Given the description of an element on the screen output the (x, y) to click on. 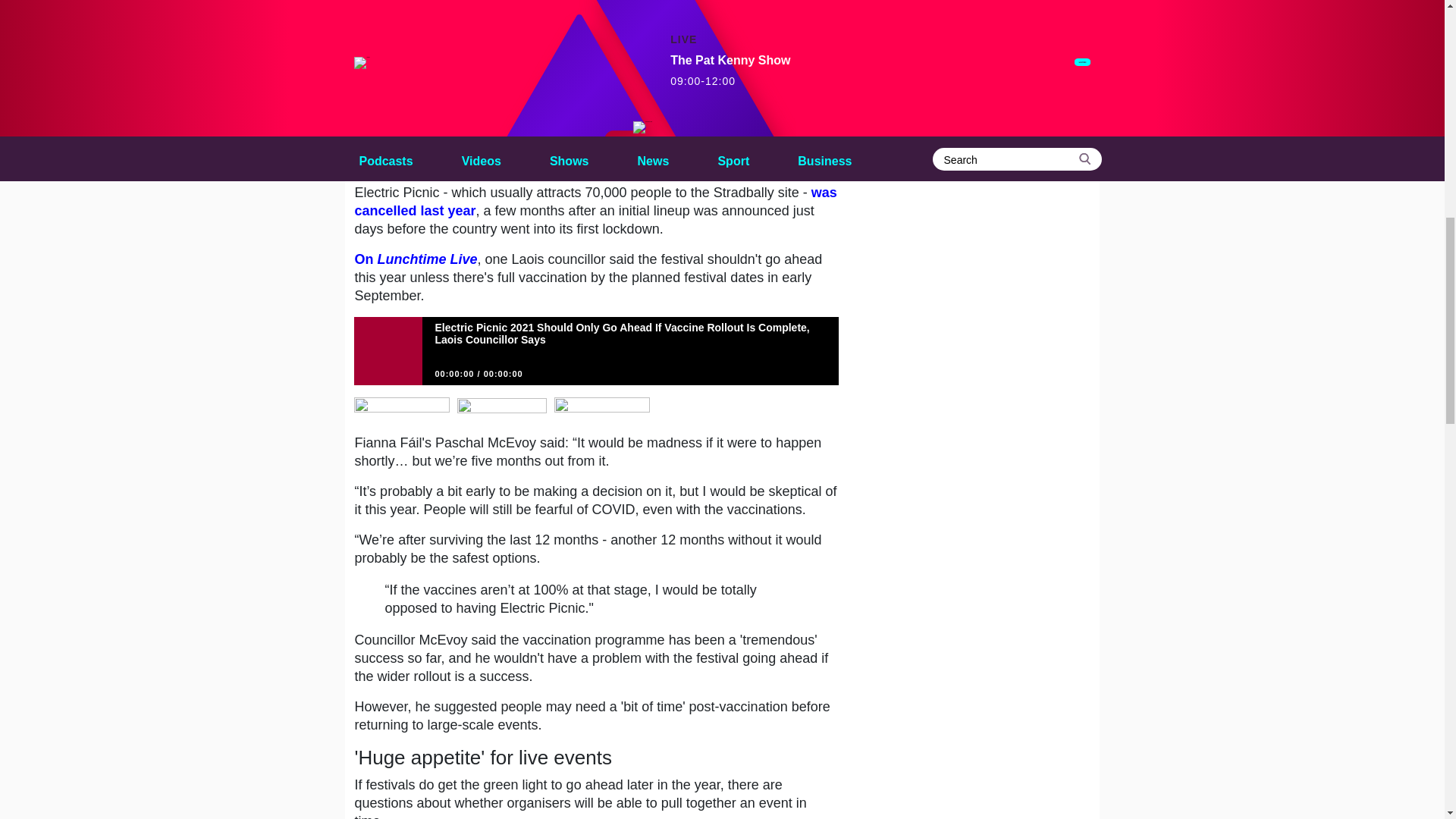
March 8, 2021 (621, 160)
On Lunchtime Live (415, 258)
was cancelled last year (594, 201)
